Given the description of an element on the screen output the (x, y) to click on. 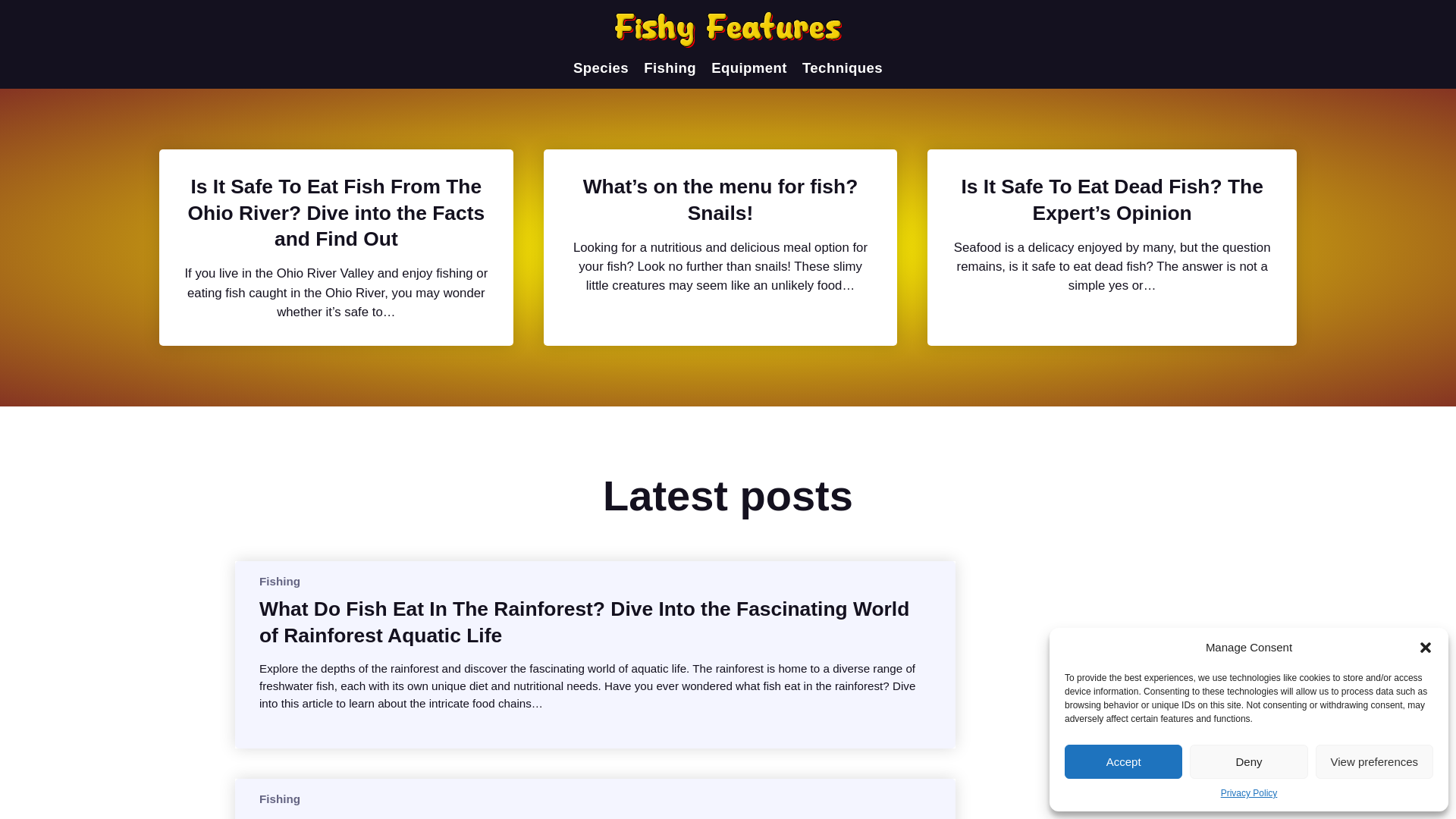
Deny (1248, 761)
Accept (1123, 761)
Equipment (749, 67)
Fishing (669, 67)
Species (600, 67)
Fishing (279, 581)
Techniques (842, 67)
Fishing (279, 798)
View preferences (1374, 761)
Privacy Policy (1249, 793)
